Given the description of an element on the screen output the (x, y) to click on. 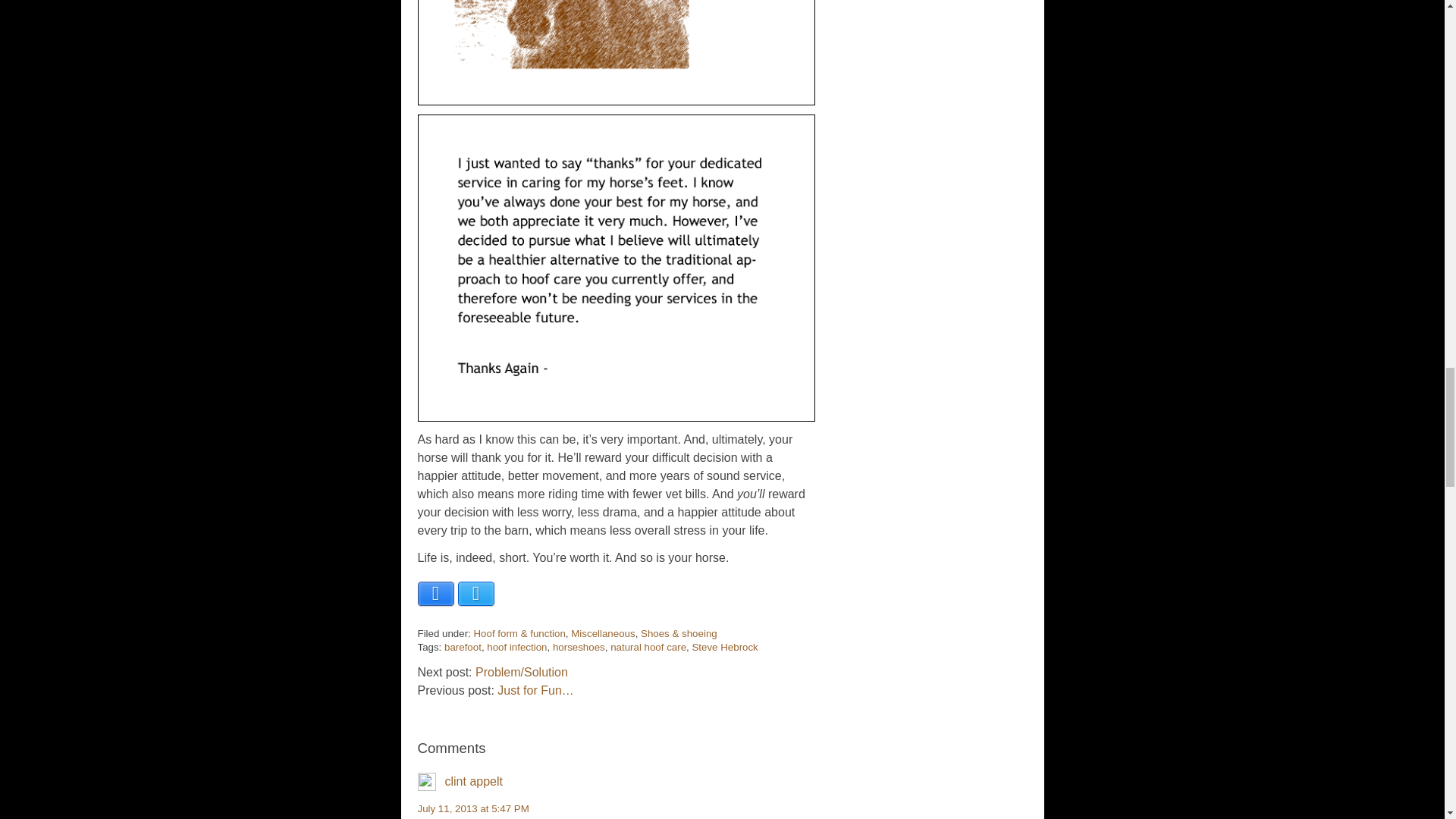
Share this article on Facebook (434, 593)
July 11, 2013 at 5:47 PM (472, 808)
Share this article on Twitter (476, 593)
natural hoof care (647, 646)
Steve Hebrock (724, 646)
clint appelt (473, 780)
horseshoes (579, 646)
barefoot (462, 646)
Miscellaneous (602, 633)
hoof infection (516, 646)
